Given the description of an element on the screen output the (x, y) to click on. 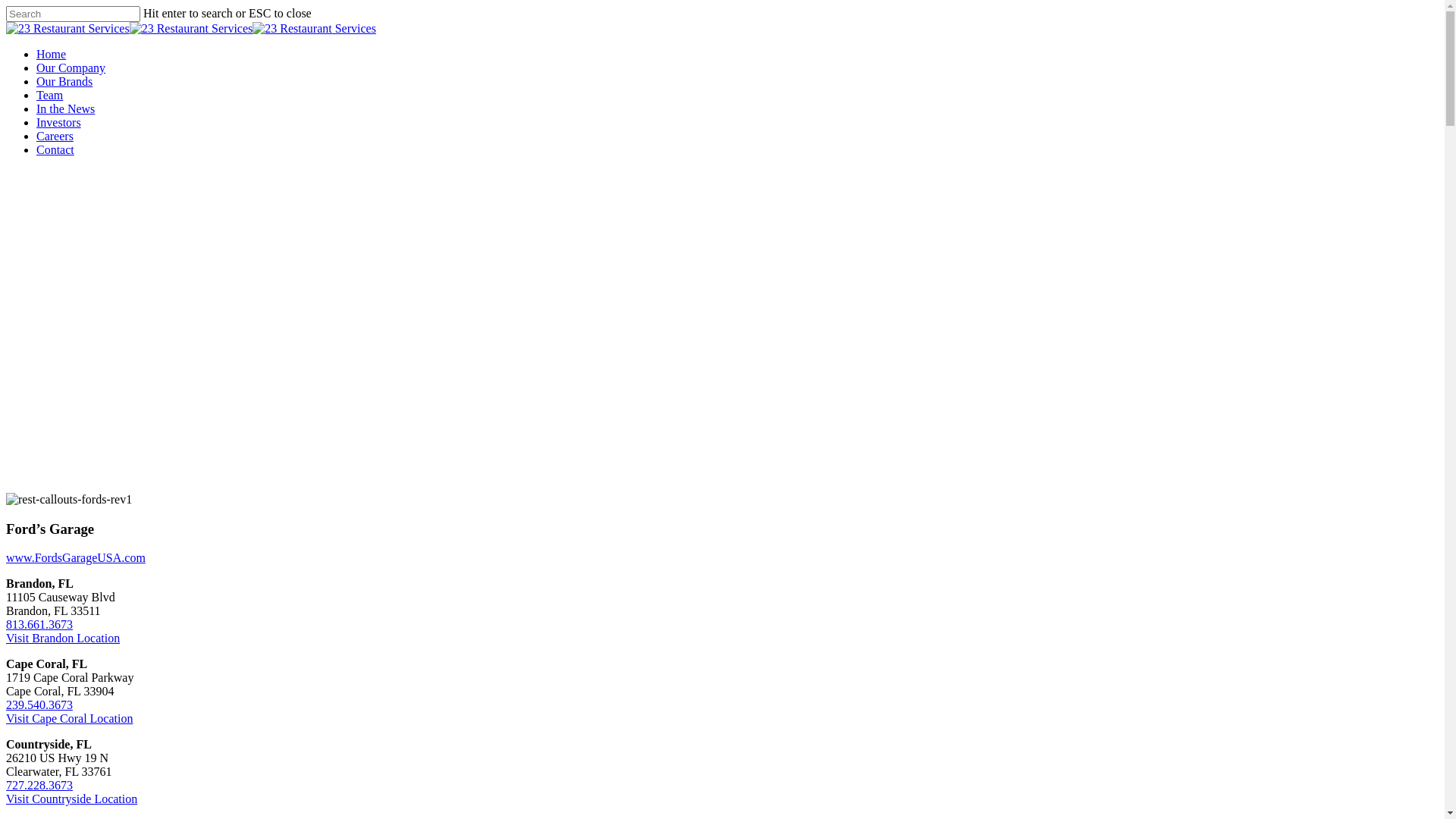
813.661.3673 Element type: text (39, 624)
In the News Element type: text (65, 108)
Our Brands Element type: text (64, 81)
Skip to main content Element type: text (5, 5)
www.FordsGarageUSA.com Element type: text (75, 557)
Visit Countryside Location Element type: text (71, 798)
Team Element type: text (49, 94)
Our Company Element type: text (70, 67)
Home Element type: text (50, 53)
Visit Cape Coral Location Element type: text (69, 718)
Careers Element type: text (54, 135)
Investors Element type: text (58, 122)
Visit Brandon Location Element type: text (62, 637)
Contact Element type: text (55, 149)
239.540.3673 Element type: text (39, 704)
727.228.3673 Element type: text (39, 784)
